Given the description of an element on the screen output the (x, y) to click on. 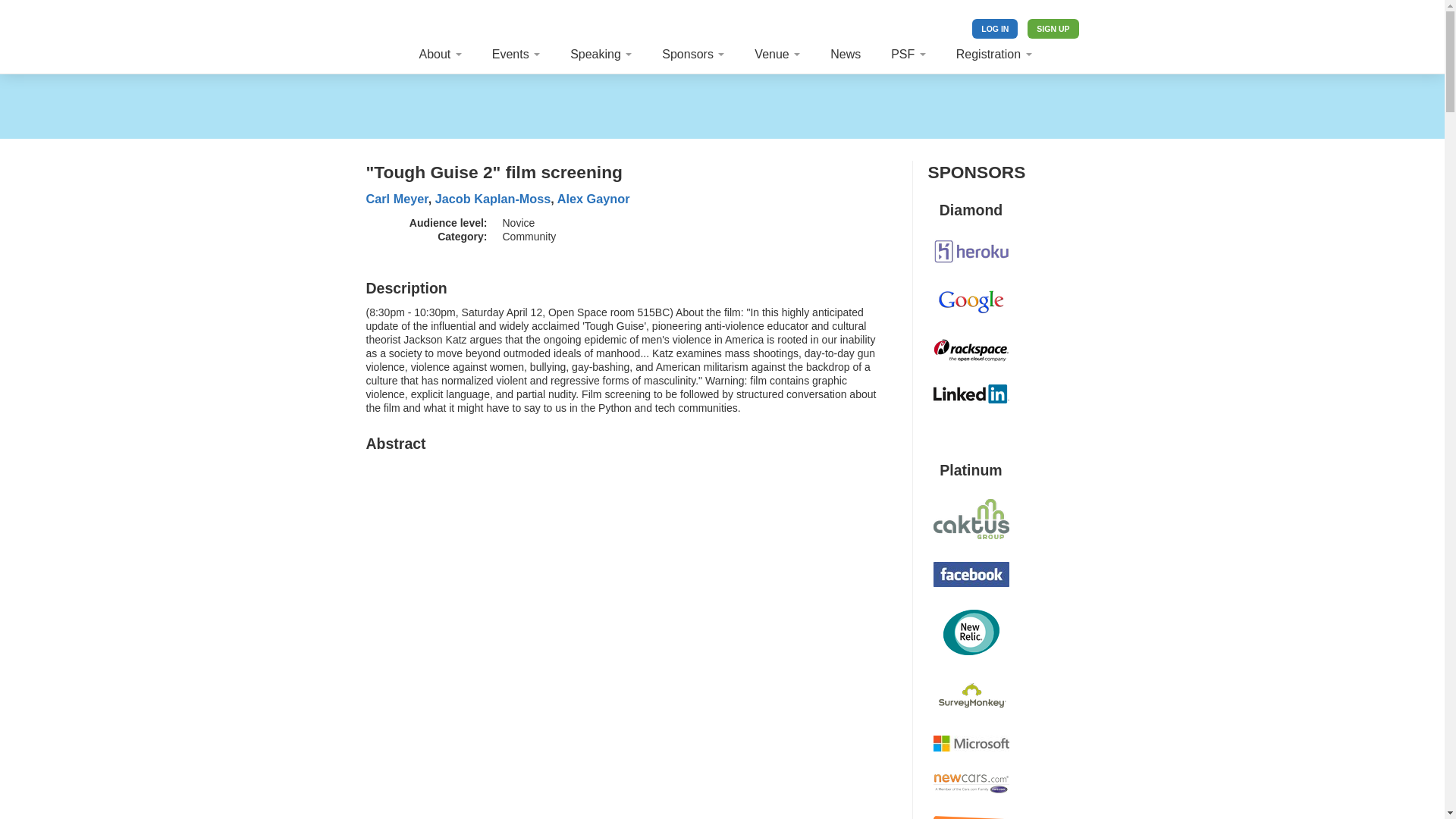
About (439, 54)
LOG IN (994, 28)
Events (515, 54)
Speaking (600, 54)
SIGN UP (1052, 28)
